Given the description of an element on the screen output the (x, y) to click on. 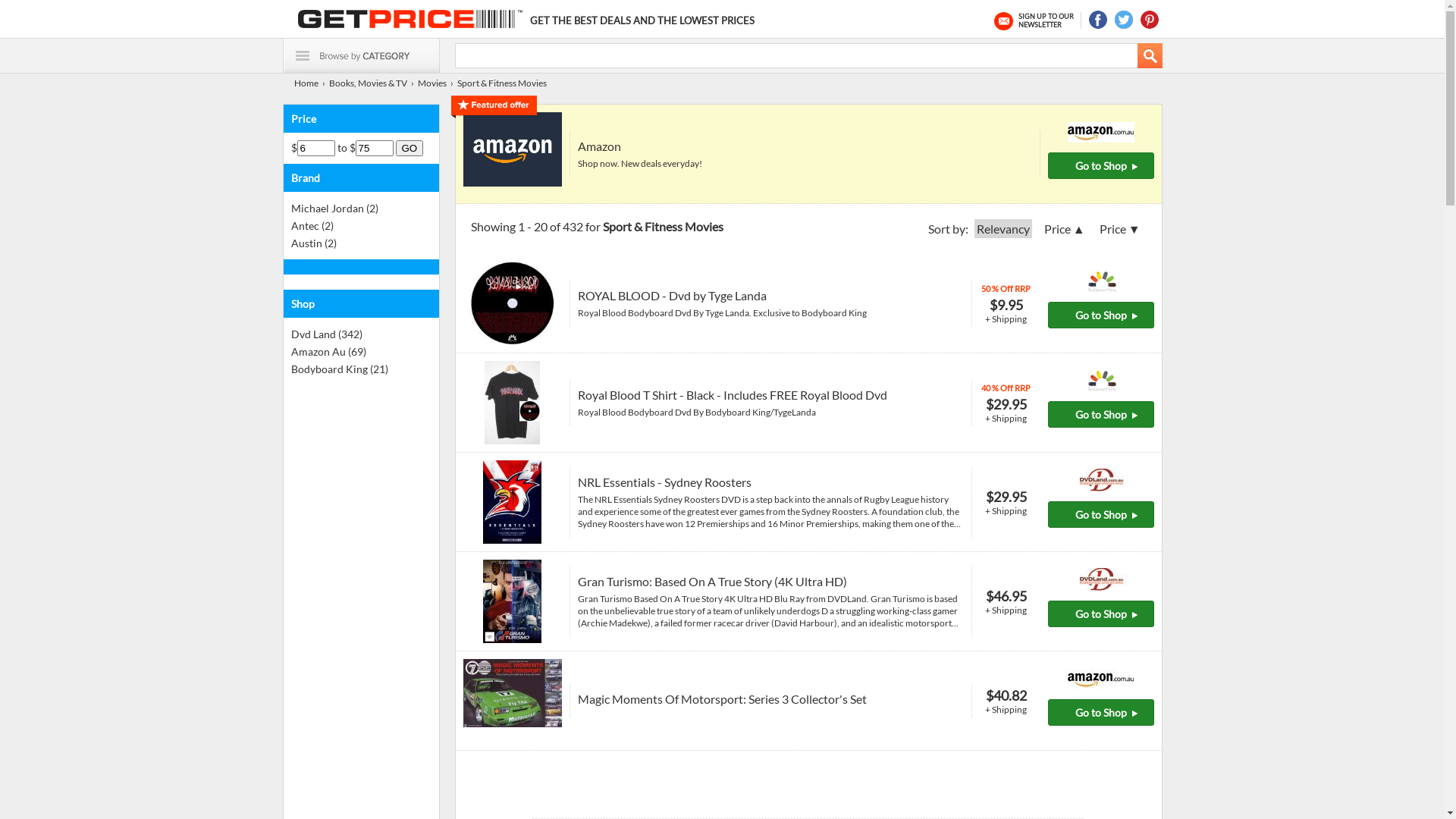
3rd party ad content Element type: hover (808, 764)
Amazon
Shop now. New deals everyday!
Go to Shop Element type: text (808, 153)
SIGN UP TO OUR NEWSLETTER Element type: text (1036, 20)
Sport & Fitness Movies Element type: text (501, 82)
Austin (2) Element type: text (313, 242)
Bodyboard King (21) Element type: text (339, 368)
Amazon Au (69) Element type: text (328, 351)
Dvd Land (342) Element type: text (326, 333)
Michael Jordan (2) Element type: text (334, 207)
Relevancy Element type: text (1003, 228)
Home Element type: text (306, 82)
Search Element type: hover (1149, 55)
GetPrice Australia Element type: hover (409, 18)
Books, Movies & TV Element type: text (368, 82)
Antec (2) Element type: text (312, 225)
Movies Element type: text (431, 82)
GO Element type: text (409, 148)
